Given the description of an element on the screen output the (x, y) to click on. 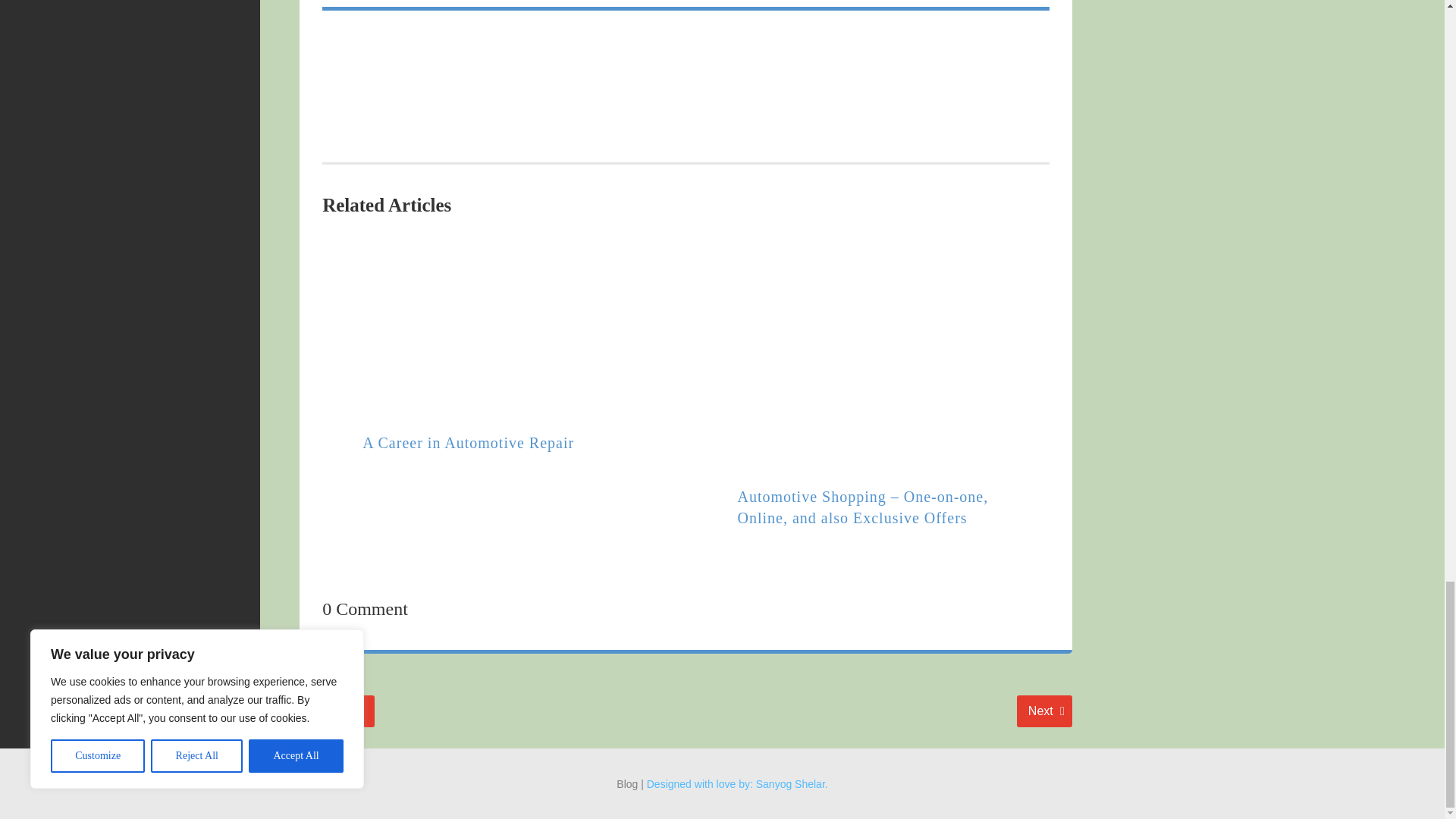
A Career in Automotive Repair (1043, 711)
